Given the description of an element on the screen output the (x, y) to click on. 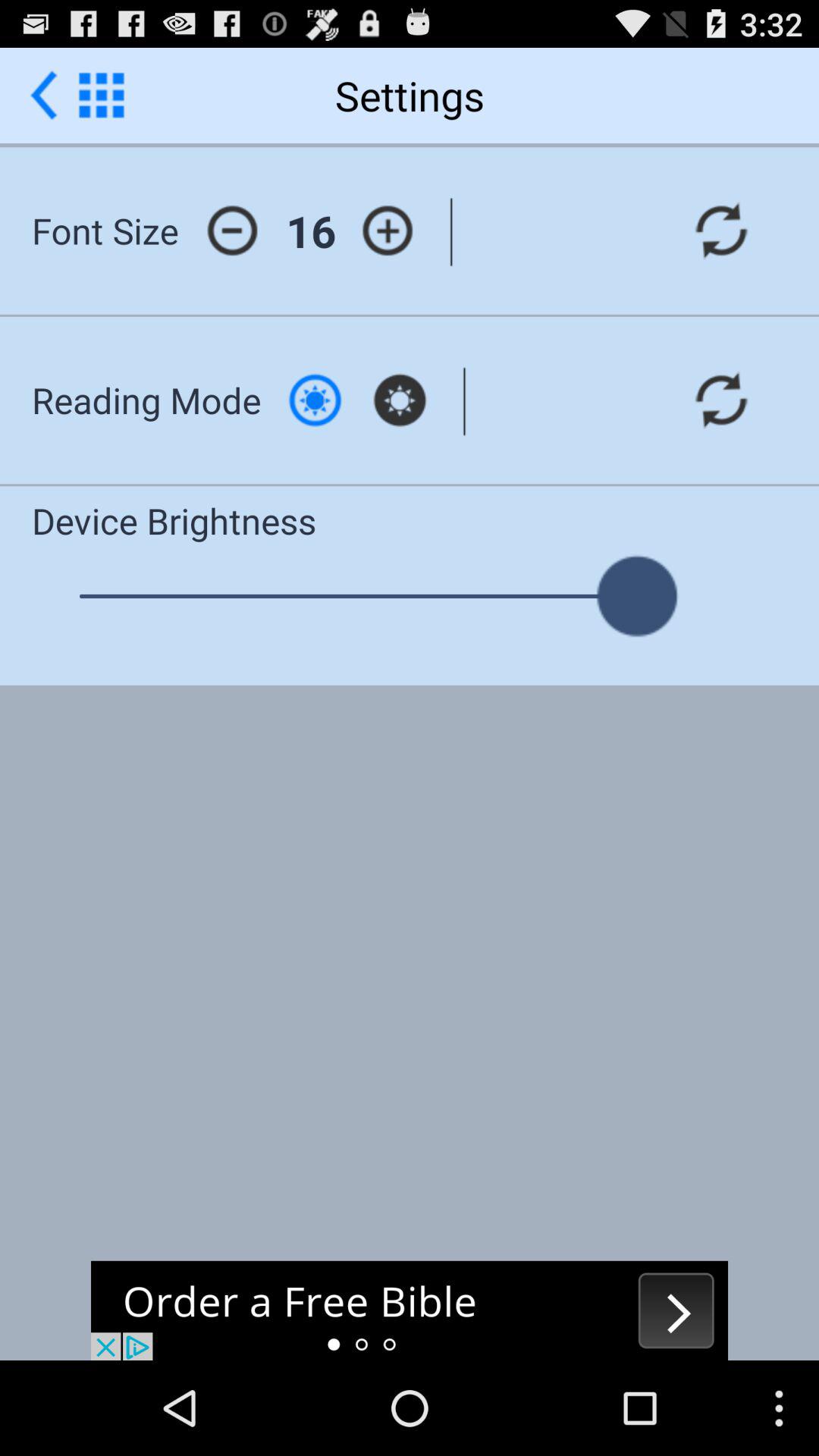
reload (721, 230)
